Given the description of an element on the screen output the (x, y) to click on. 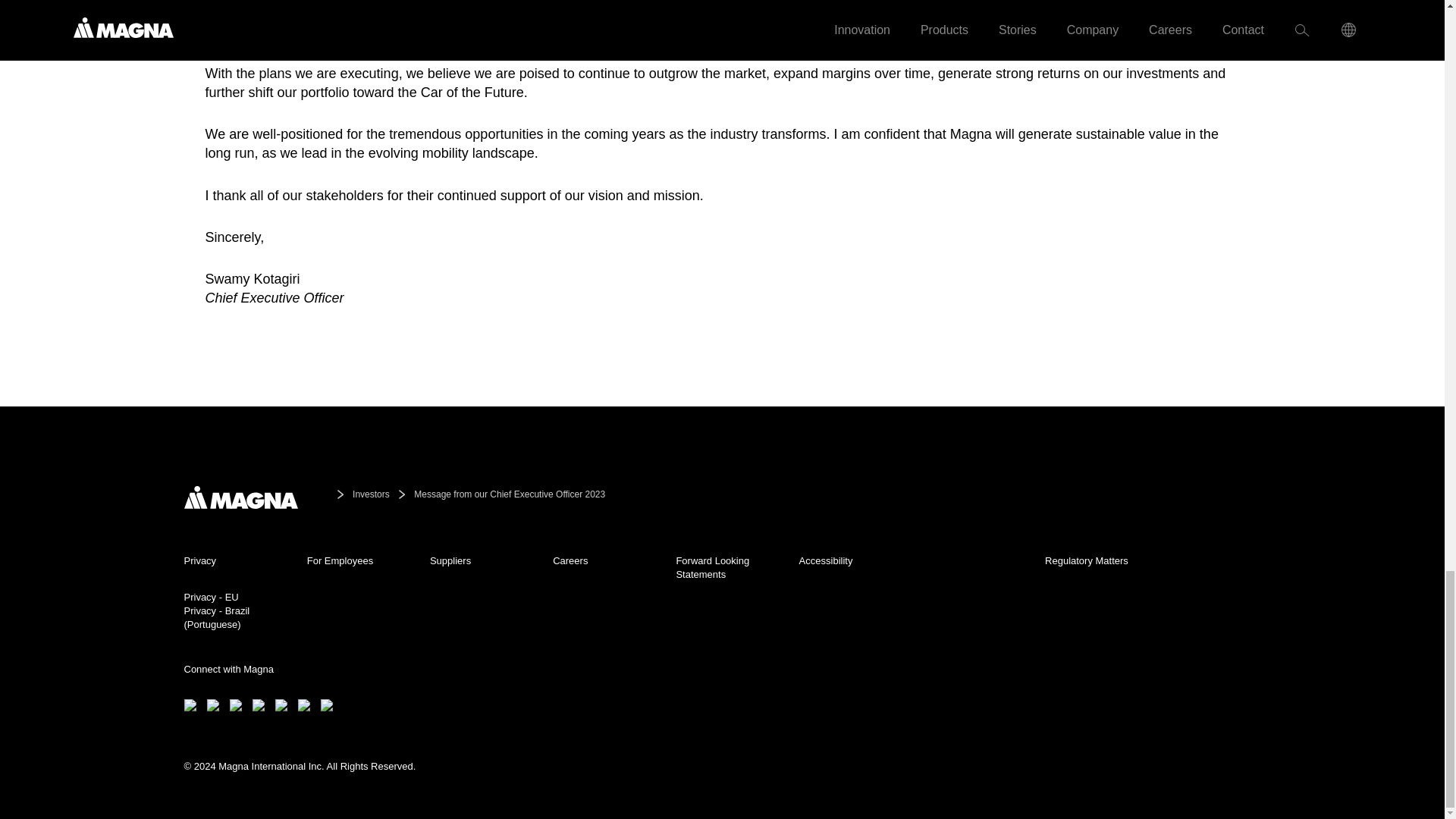
Driving Excellence. Inspiring Innovation. (240, 497)
